Given the description of an element on the screen output the (x, y) to click on. 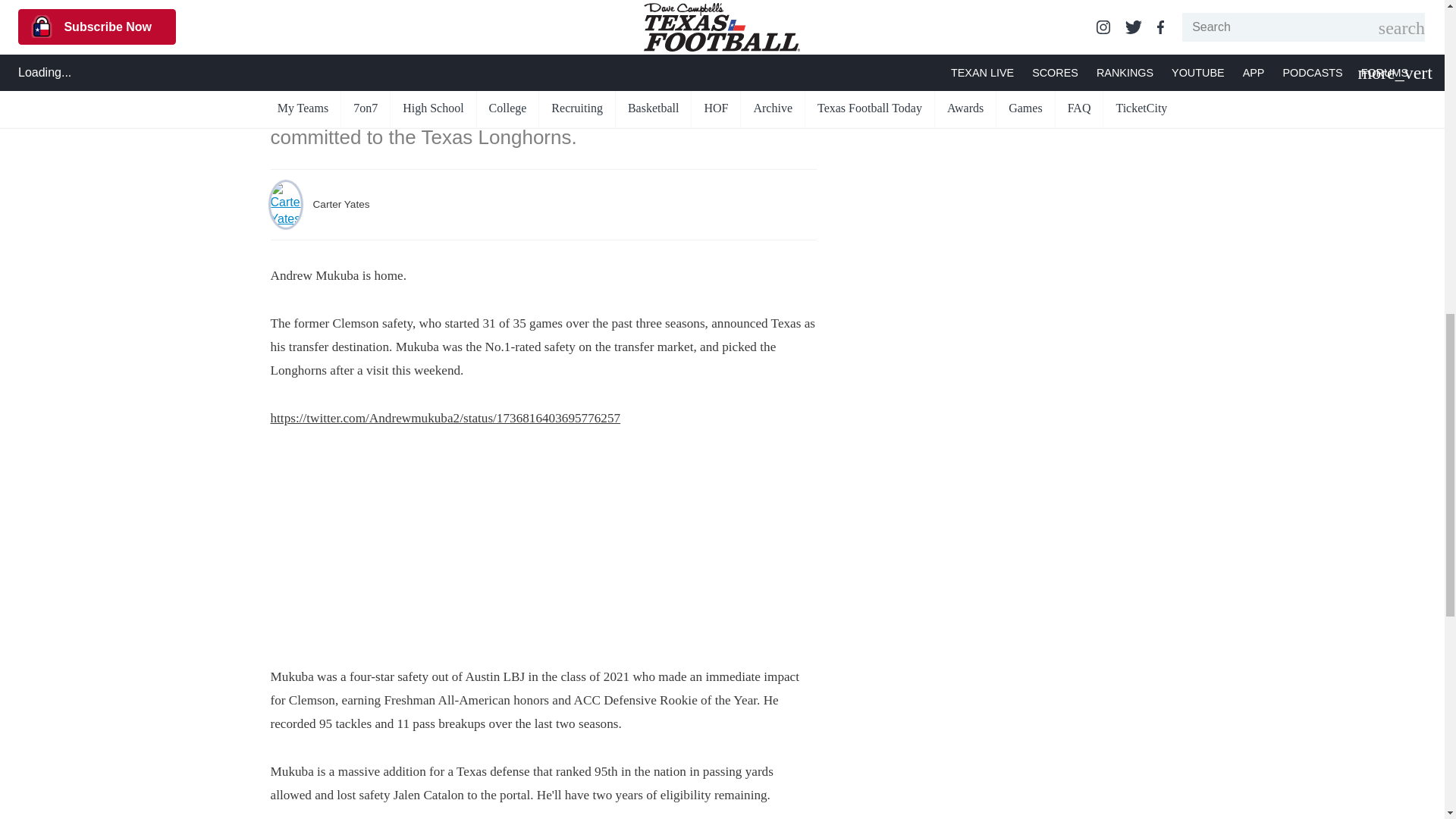
Share on Facebook (306, 38)
Share on Twitter (277, 38)
Save to Your Favorites (333, 38)
